Given the description of an element on the screen output the (x, y) to click on. 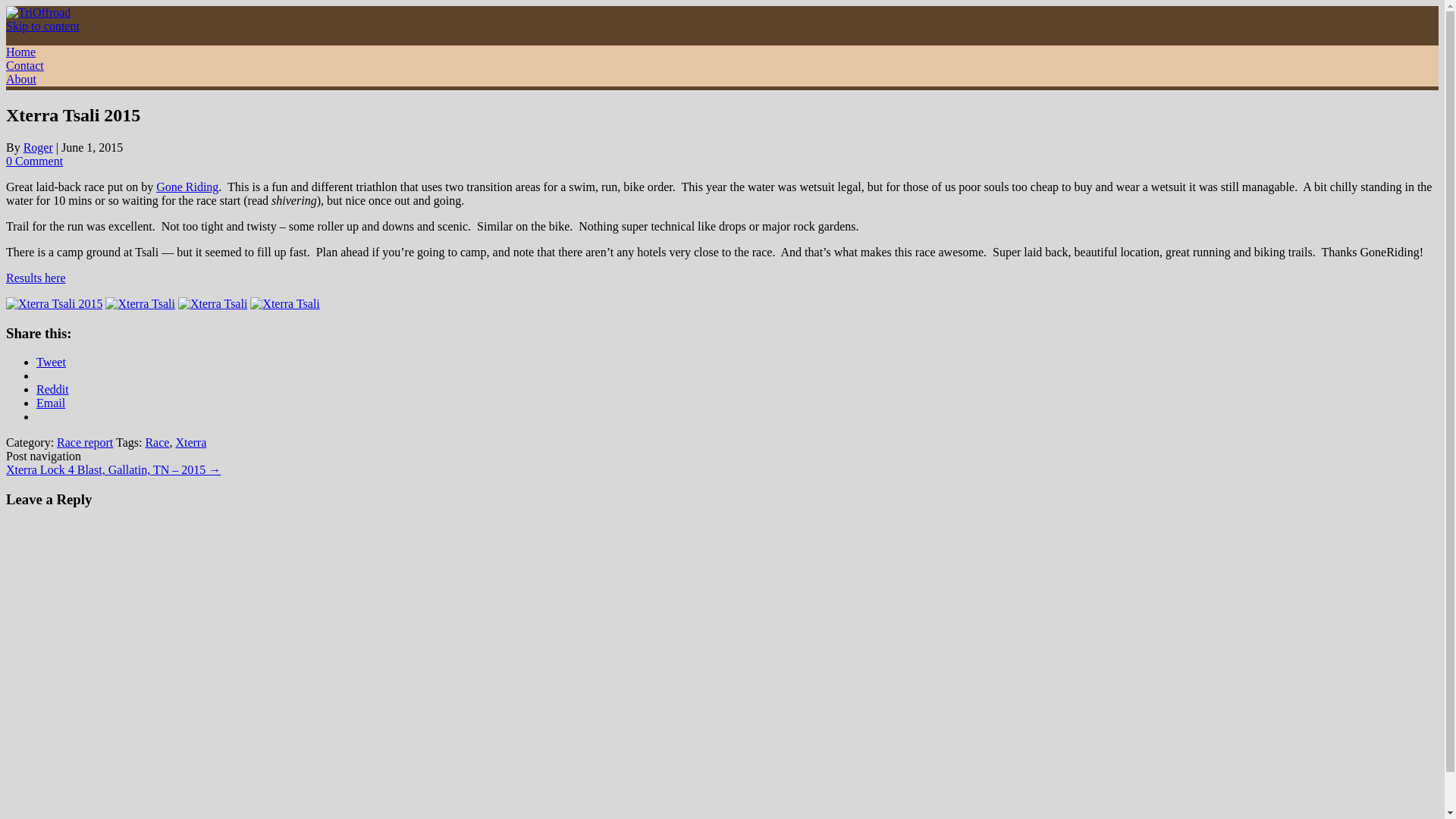
Posts by Roger (37, 146)
About (20, 78)
Tweet (50, 361)
Race (156, 441)
Results here (35, 277)
Click to email a link to a friend (50, 402)
Email (50, 402)
Race report (84, 441)
Contact (24, 65)
Reddit (52, 389)
Click to share on Reddit (52, 389)
0 Comment (33, 160)
Skip to content (42, 25)
Skip to content (42, 25)
Gone Riding (186, 186)
